Given the description of an element on the screen output the (x, y) to click on. 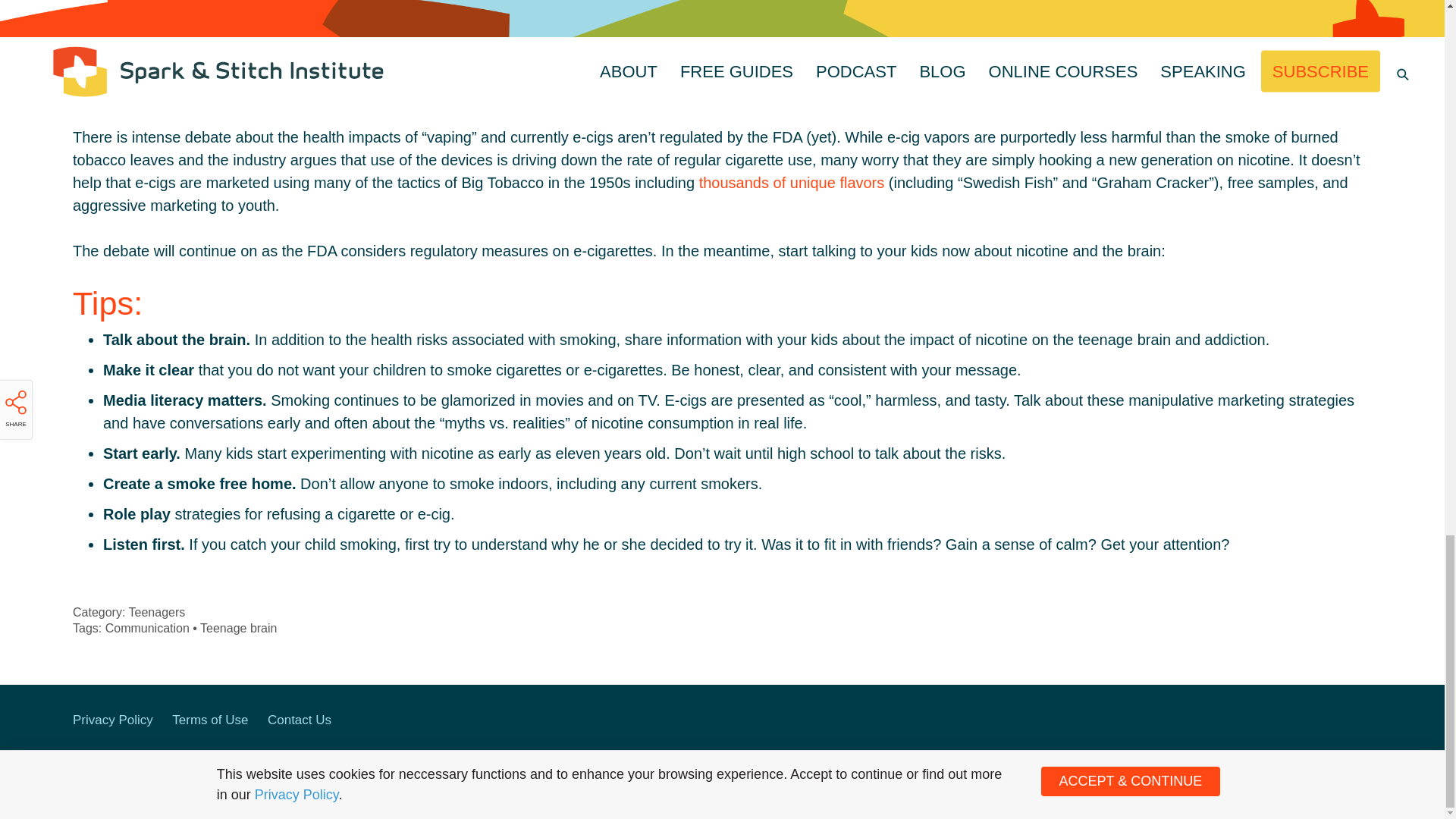
Contact Us (299, 719)
Teenage brain (238, 627)
Instagram (1289, 722)
Privacy Policy (112, 719)
Teenagers (157, 612)
Twitter (1322, 722)
Terms of Use (209, 719)
Facebook (1256, 722)
Communication (146, 627)
thousands of unique flavors (791, 182)
